Given the description of an element on the screen output the (x, y) to click on. 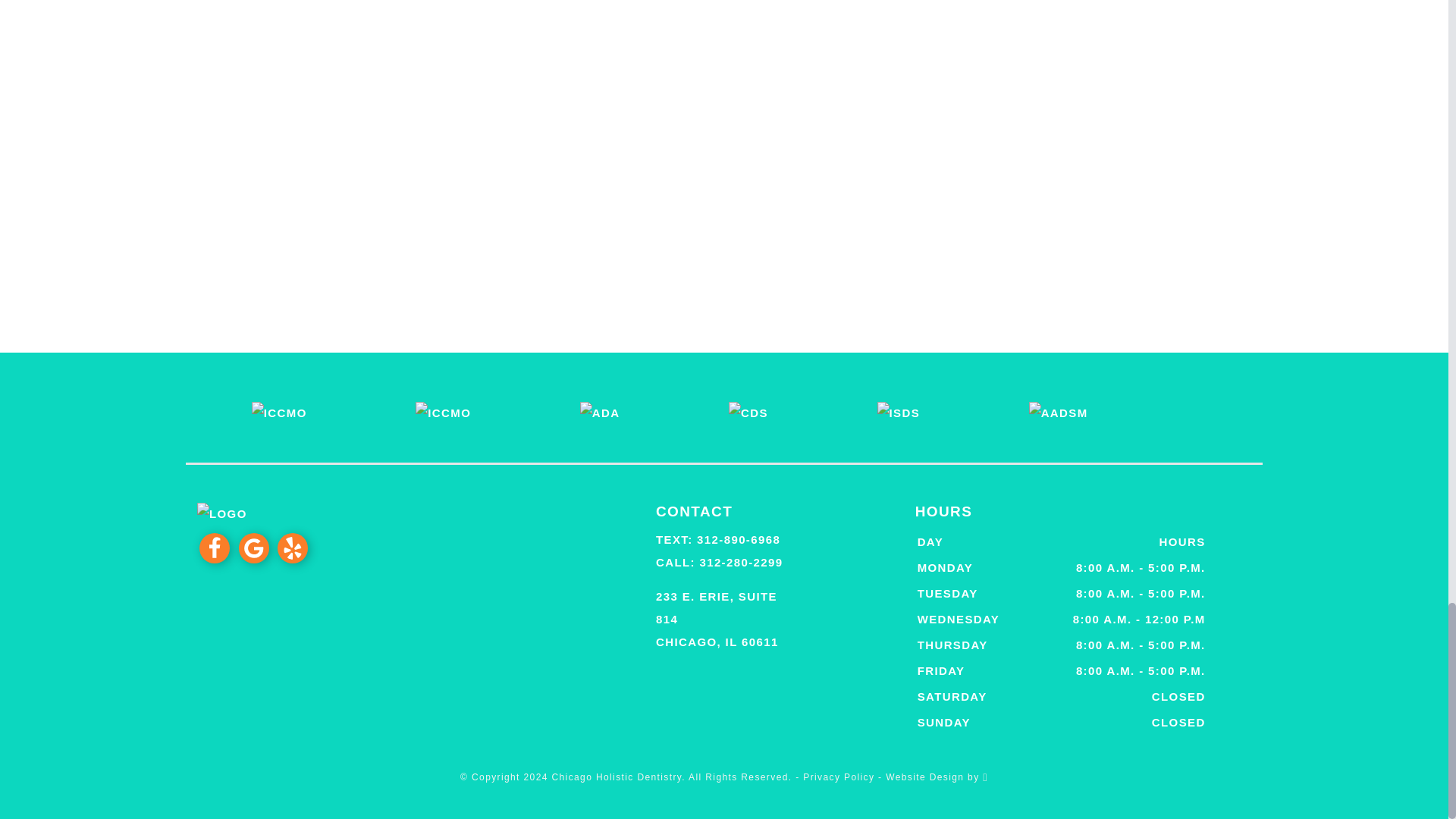
FACEBOOK ICON (214, 548)
GOOGLE ICON (253, 548)
YELP ICON (292, 548)
